Given the description of an element on the screen output the (x, y) to click on. 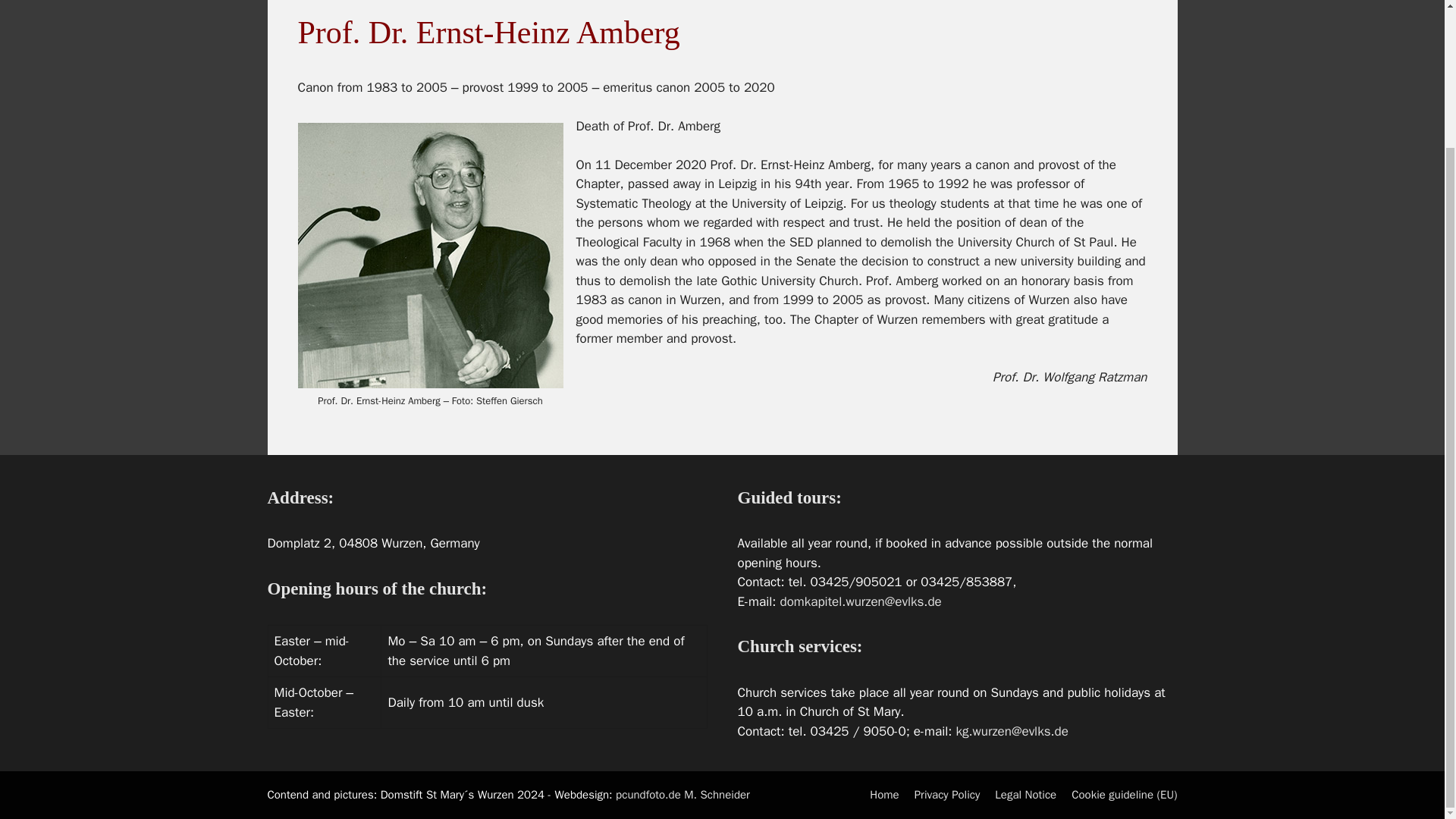
Privacy Policy (946, 794)
Home (883, 794)
